Given the description of an element on the screen output the (x, y) to click on. 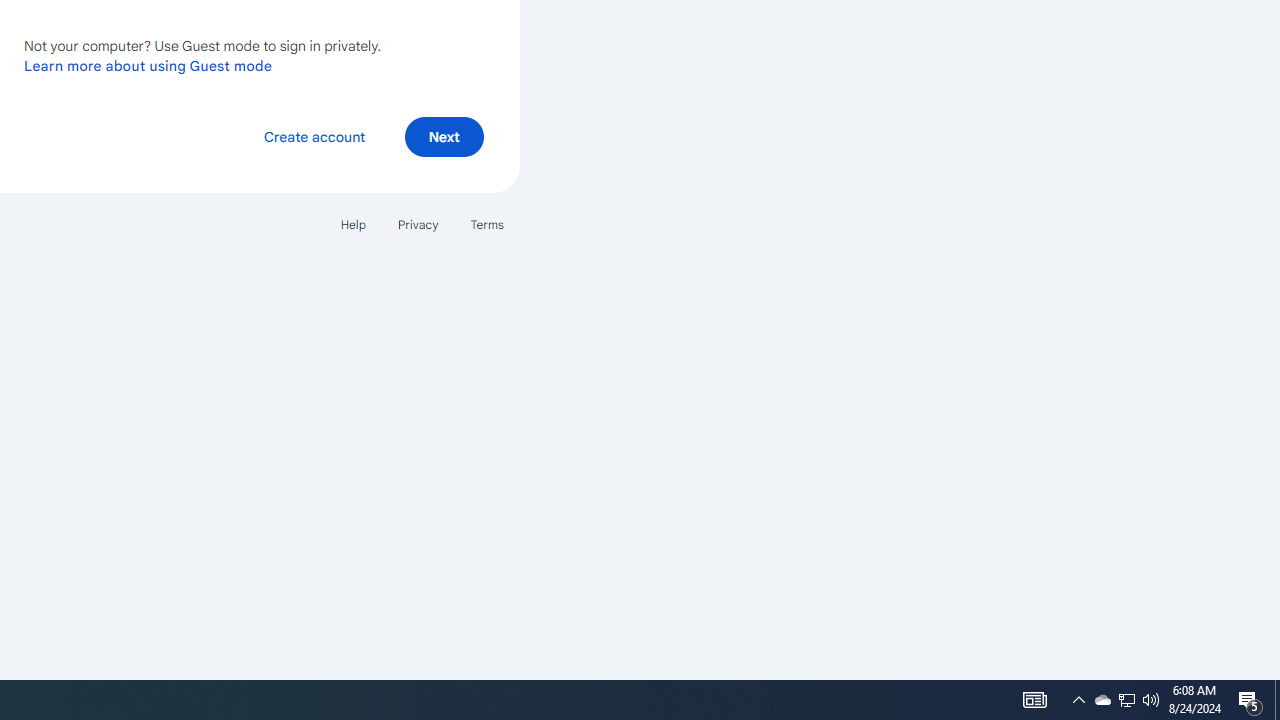
Next (443, 135)
Create account (314, 135)
Learn more about using Guest mode (148, 65)
